Given the description of an element on the screen output the (x, y) to click on. 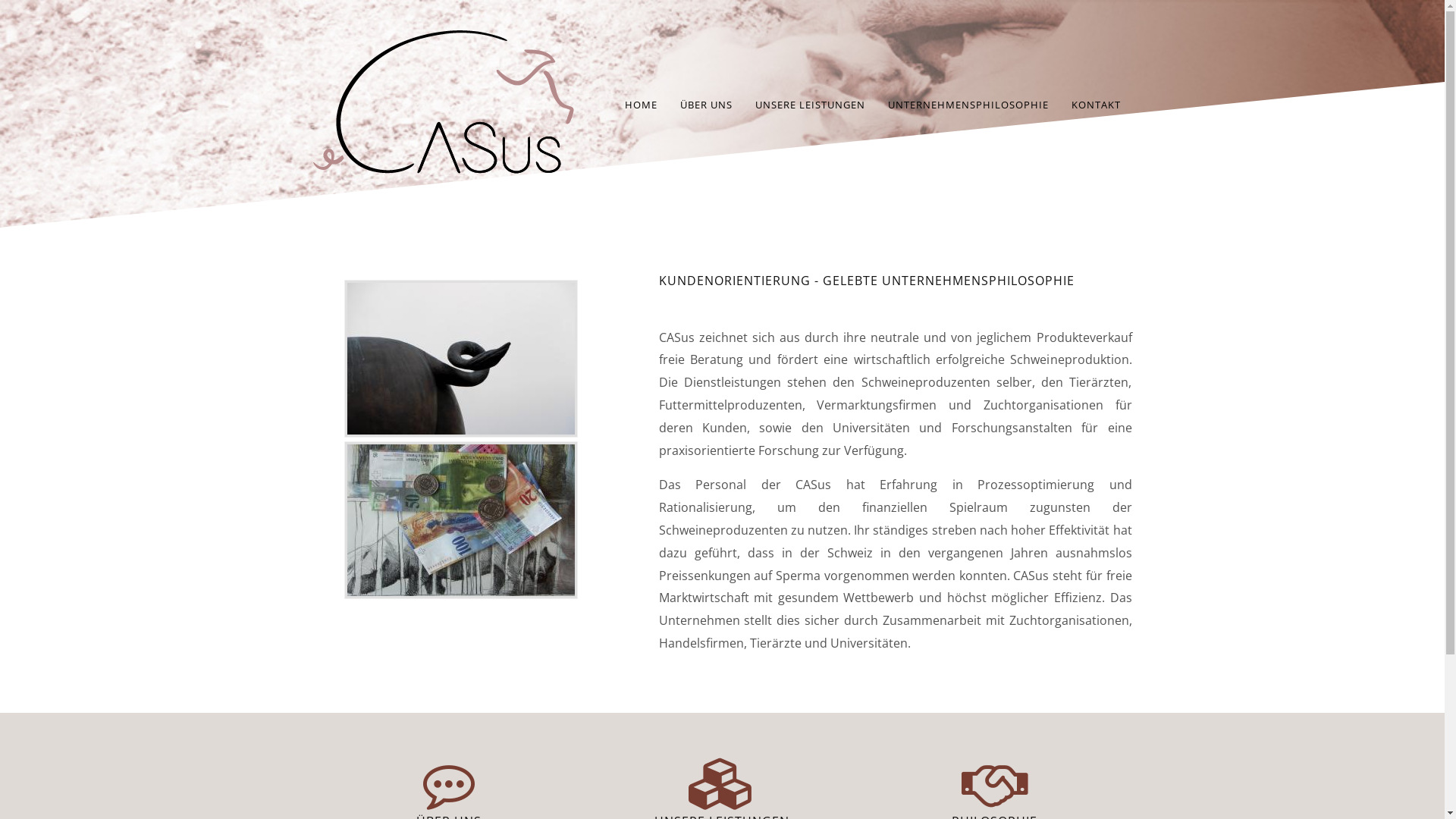
KONTAKT Element type: text (1095, 104)
HOME Element type: text (640, 104)
UNTERNEHMENSPHILOSOPHIE Element type: text (967, 104)
UNSERE LEISTUNGEN Element type: text (810, 104)
